Given the description of an element on the screen output the (x, y) to click on. 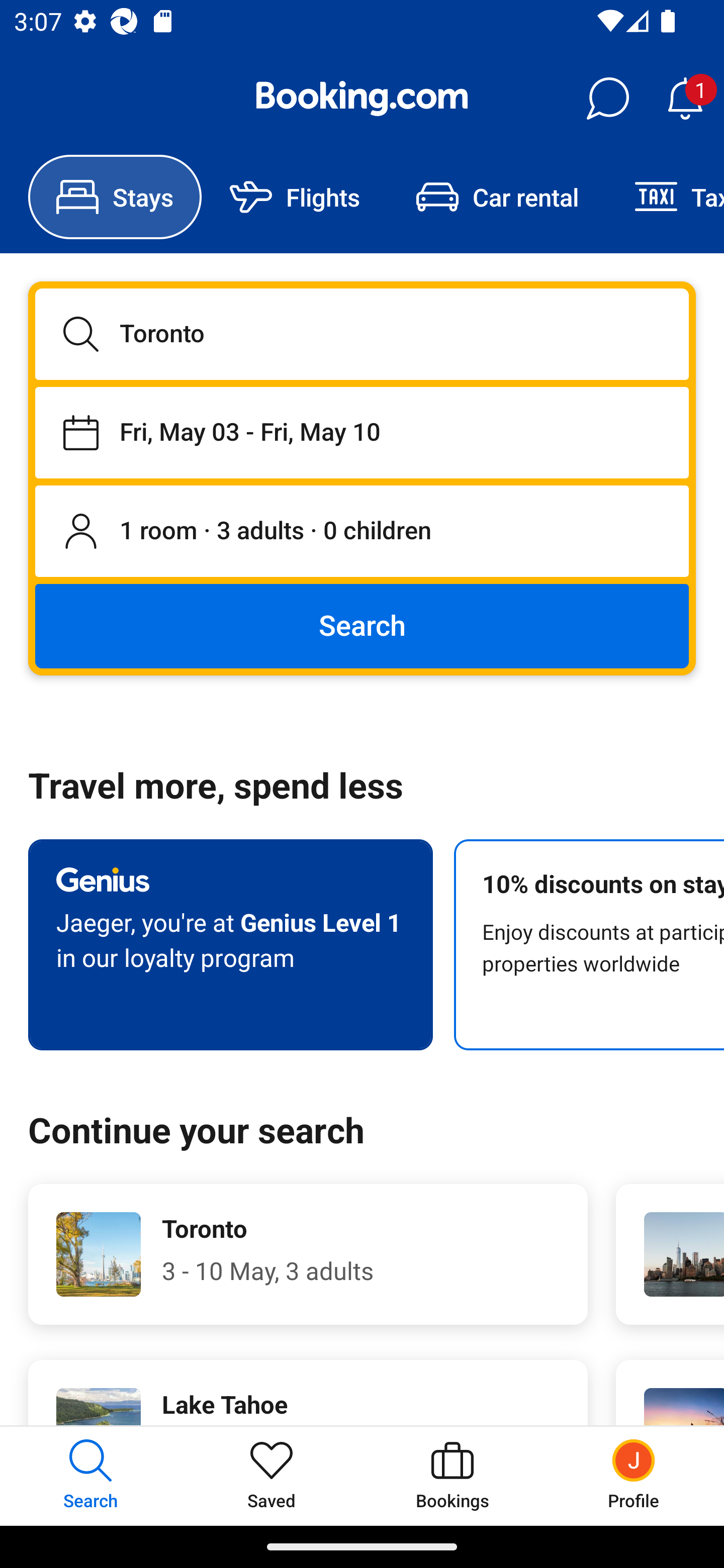
Messages (607, 98)
Notifications (685, 98)
Stays (114, 197)
Flights (294, 197)
Car rental (497, 197)
Taxi (665, 197)
Toronto (361, 333)
Staying from Fri, May 03 until Fri, May 10 (361, 432)
1 room, 3 adults, 0 children (361, 531)
Search (361, 625)
Toronto 3 - 10 May, 3 adults (307, 1253)
Saved (271, 1475)
Bookings (452, 1475)
Profile (633, 1475)
